Given the description of an element on the screen output the (x, y) to click on. 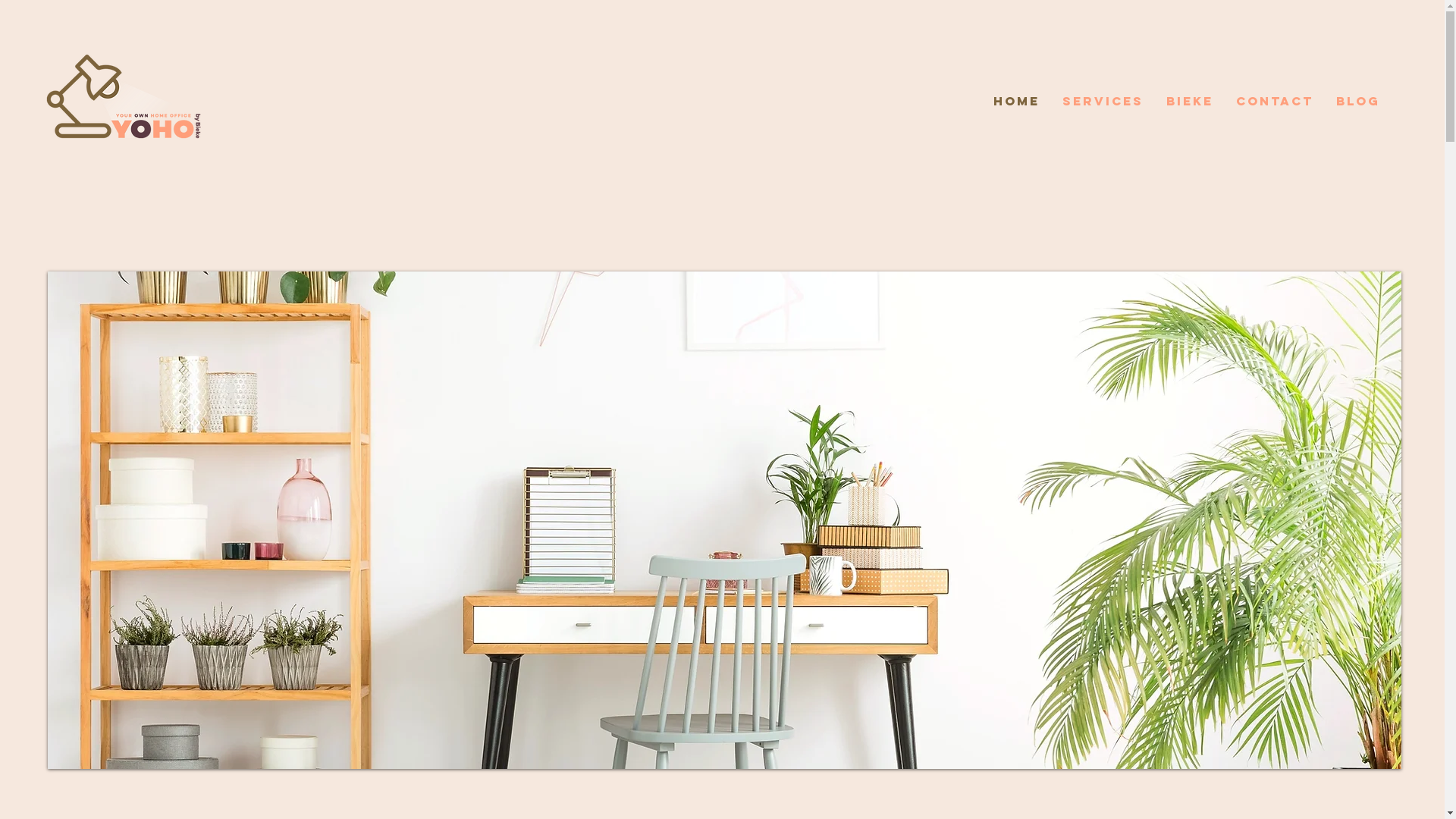
BIEKE Element type: text (1188, 100)
HOME Element type: text (1015, 100)
BLOG Element type: text (1357, 100)
SERVICES Element type: text (1102, 100)
CONTACT Element type: text (1273, 100)
